Given the description of an element on the screen output the (x, y) to click on. 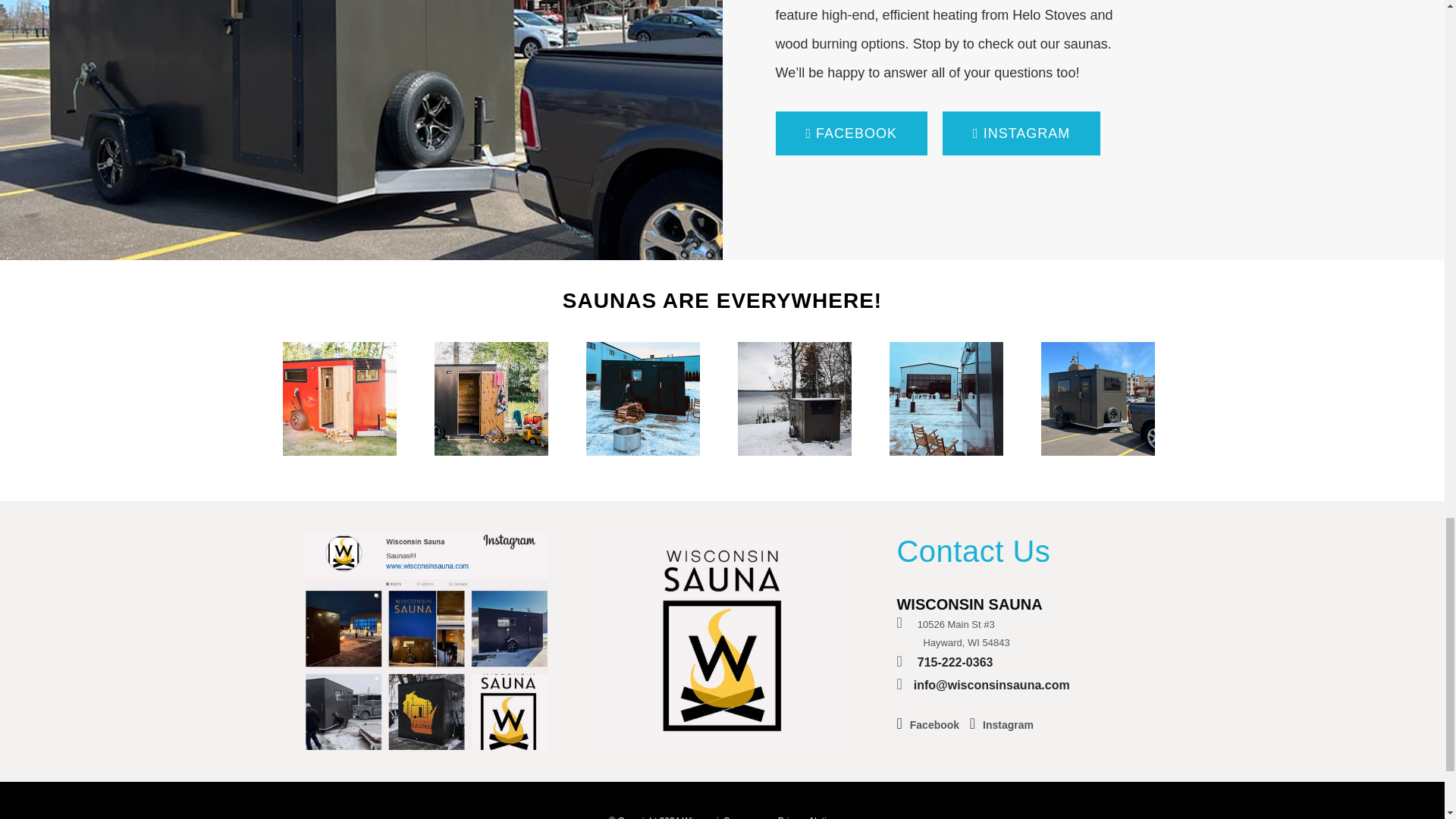
eight (490, 398)
two (793, 398)
three (945, 398)
seven (339, 398)
one (641, 398)
FACEBOOK (850, 133)
INSTAGRAM (1021, 133)
